Given the description of an element on the screen output the (x, y) to click on. 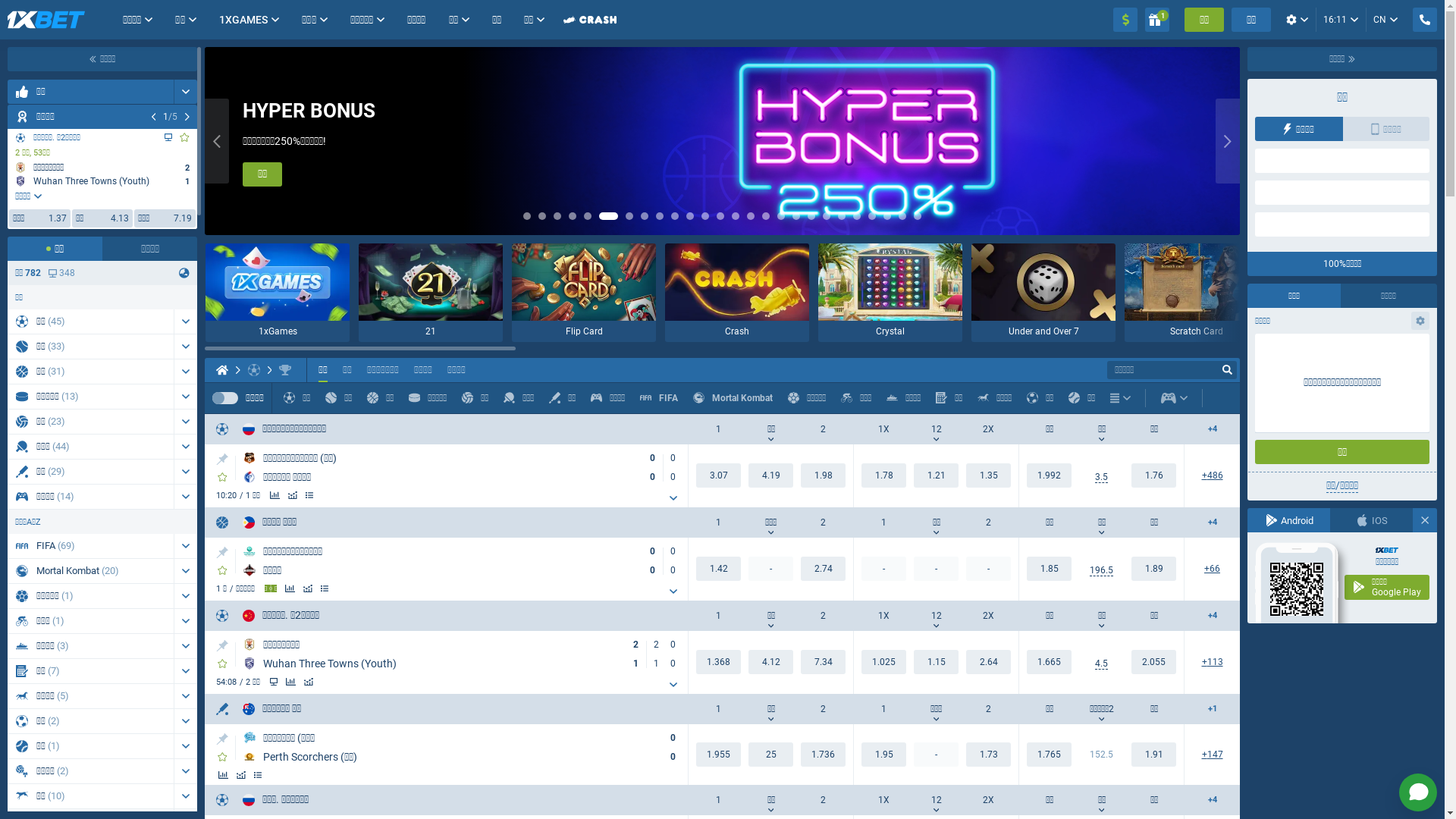
124 Element type: text (1211, 661)
1.89 Element type: text (1153, 568)
348 Element type: text (61, 272)
1XGAMES Element type: text (243, 19)
1.35 Element type: text (988, 475)
1.736 Element type: text (822, 754)
1.975 Element type: text (1048, 475)
3.07 Element type: text (718, 475)
Mortal Kombat
21 Element type: text (90, 570)
1.765 Element type: text (1048, 754)
- Element type: text (935, 754)
+4 Element type: text (1211, 616)
+4 Element type: text (1211, 429)
Crystal Element type: text (890, 292)
16:10 Element type: text (1340, 19)
1.98 Element type: text (822, 475)
7.19 Element type: text (822, 661)
1 Element type: text (1157, 19)
- Element type: text (883, 568)
1.95 Element type: text (883, 754)
+4 Element type: text (1211, 800)
- Element type: text (988, 568)
66 Element type: text (1211, 568)
196.5 Element type: text (1101, 570)
FIFA
70 Element type: text (90, 545)
1.632 Element type: text (1048, 661)
1.78 Element type: text (883, 475)
492 Element type: text (1211, 475)
1.21 Element type: text (935, 475)
150 Element type: text (1211, 754)
+4 Element type: text (1211, 522)
1.03 Element type: text (883, 661)
Flip Card Element type: text (583, 292)
+1 Element type: text (1211, 709)
25 Element type: text (770, 754)
4.19 Element type: text (770, 475)
3.5 Element type: text (1101, 477)
2.625 Element type: text (988, 661)
- Element type: text (935, 568)
- Element type: text (770, 568)
CN Element type: text (1385, 19)
21 Element type: text (430, 292)
1.955 Element type: text (718, 754)
1xGames Element type: text (277, 292)
1.73 Element type: text (988, 754)
12 Element type: text (935, 429)
Crash Element type: text (736, 292)
4.13 Element type: text (770, 661)
12 Element type: text (935, 799)
2.105 Element type: text (1153, 661)
Scratch Card Element type: text (1196, 292)
1.775 Element type: text (1153, 475)
1.15 Element type: text (935, 661)
4.5 Element type: text (1101, 663)
Under and Over 7 Element type: text (1043, 292)
1.85 Element type: text (1048, 568)
2.74 Element type: text (822, 568)
12 Element type: text (935, 615)
1.37 Element type: text (718, 661)
1.91 Element type: text (1153, 754)
1.42 Element type: text (718, 568)
